Given the description of an element on the screen output the (x, y) to click on. 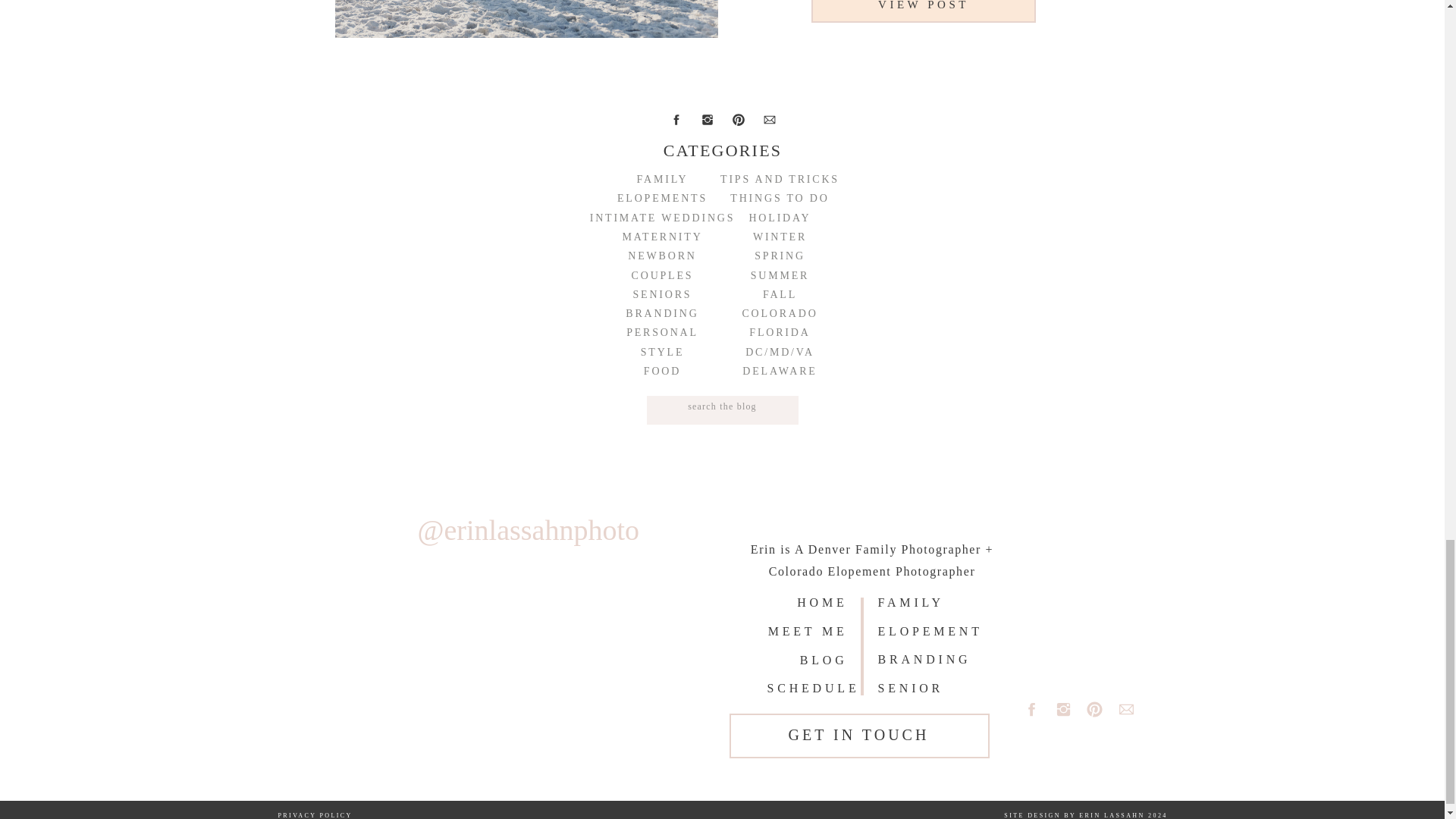
TIPS AND TRICKS (779, 179)
10 Reasons Why Beach Sessions Are Amazing! (923, 7)
DELAWARE (779, 371)
WINTER (779, 236)
SPRING (779, 255)
FLORIDA (779, 332)
PERSONAL (662, 332)
BRANDING (662, 313)
COUPLES (662, 275)
NEWBORN (662, 255)
THINGS TO DO (779, 198)
COLORADO (779, 313)
VIEW POST (923, 7)
